Given the description of an element on the screen output the (x, y) to click on. 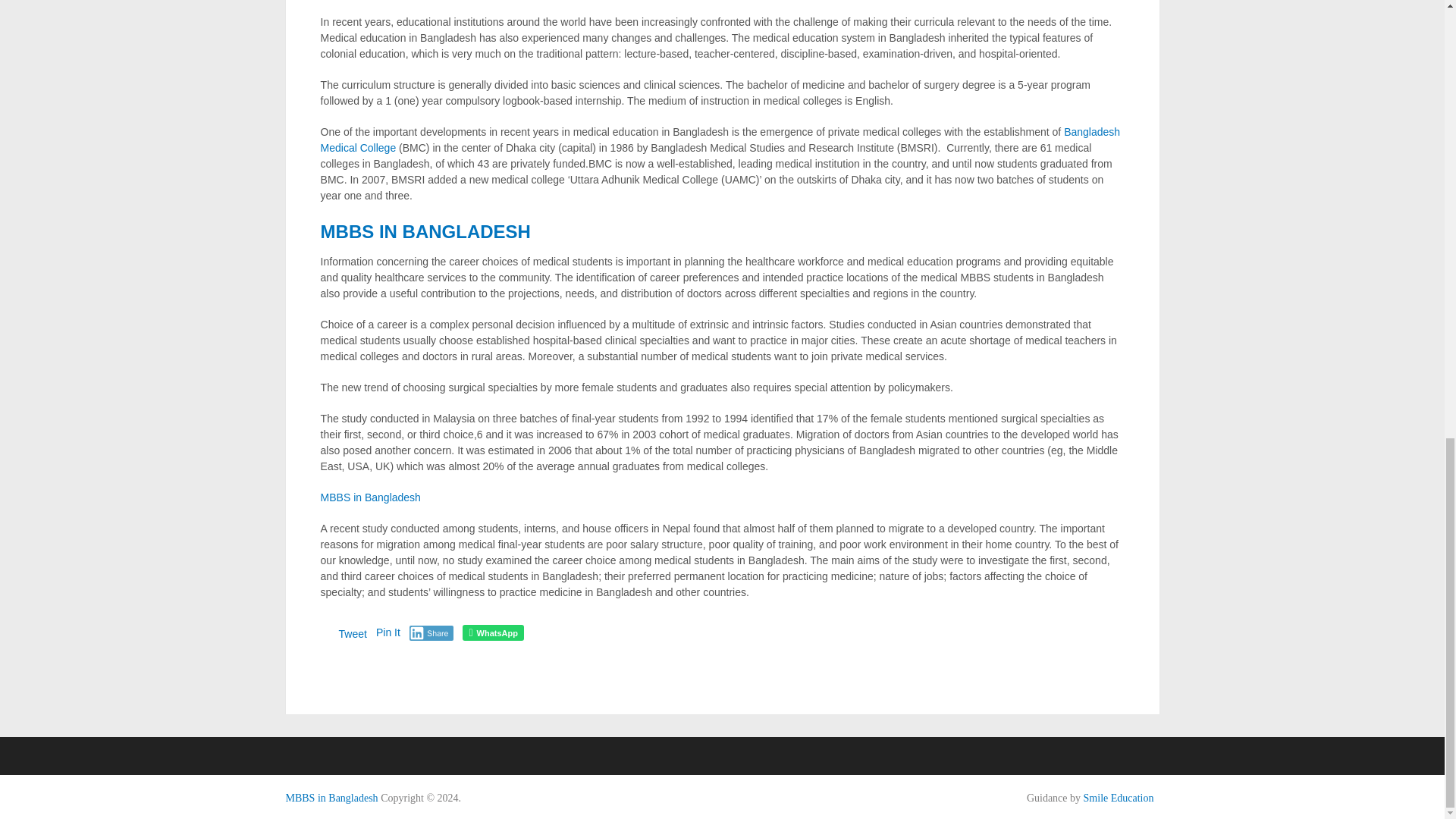
 Low Fees Medical Study in Bangladesh for Indian Students (331, 797)
Bangladesh Medical College (720, 139)
